Given the description of an element on the screen output the (x, y) to click on. 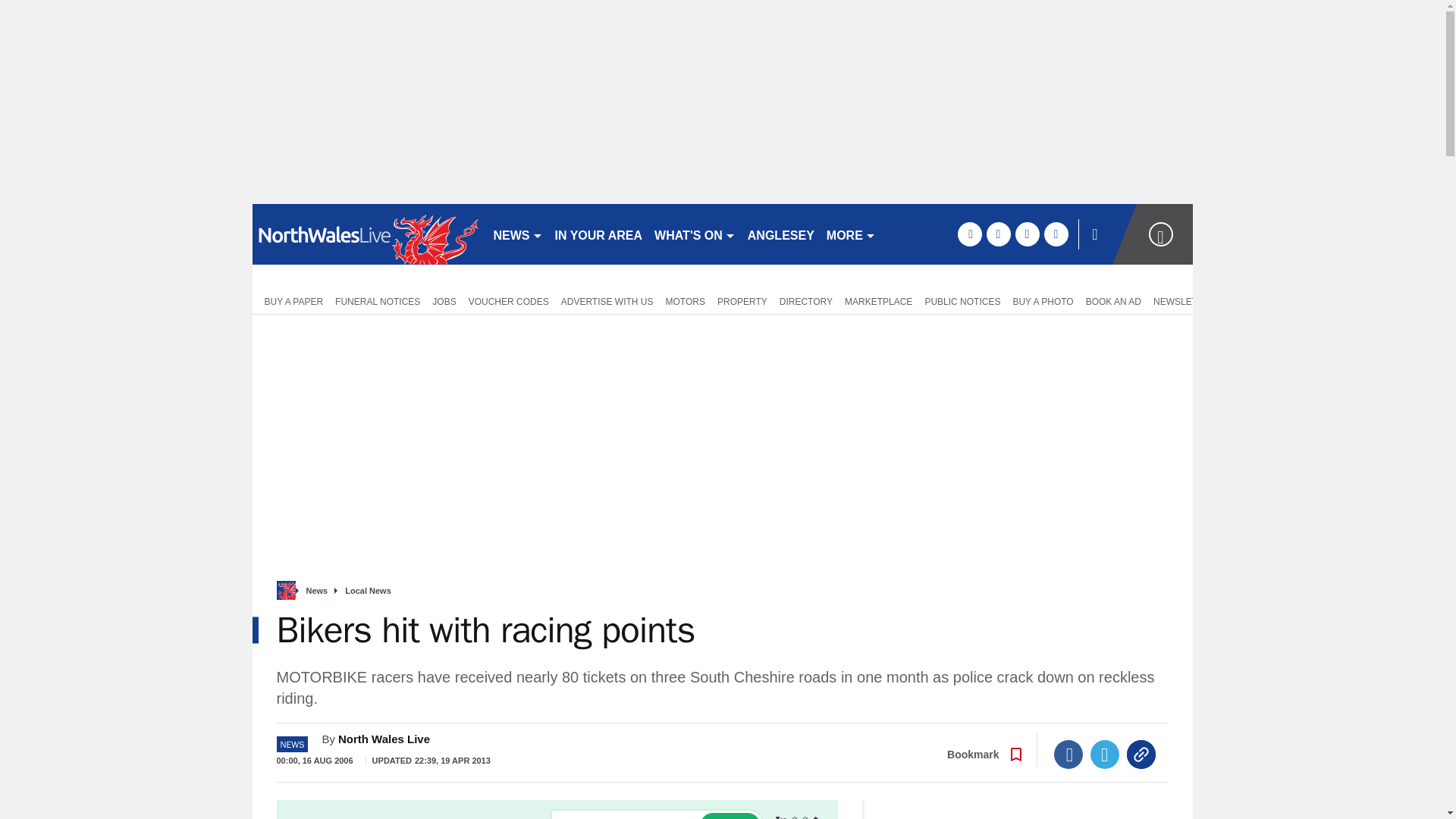
northwales (365, 233)
ADVERTISE WITH US (606, 300)
Go (730, 816)
MOTORS (685, 300)
instagram (1055, 233)
ANGLESEY (781, 233)
facebook (968, 233)
Facebook (1068, 754)
twitter (997, 233)
Twitter (1104, 754)
